Given the description of an element on the screen output the (x, y) to click on. 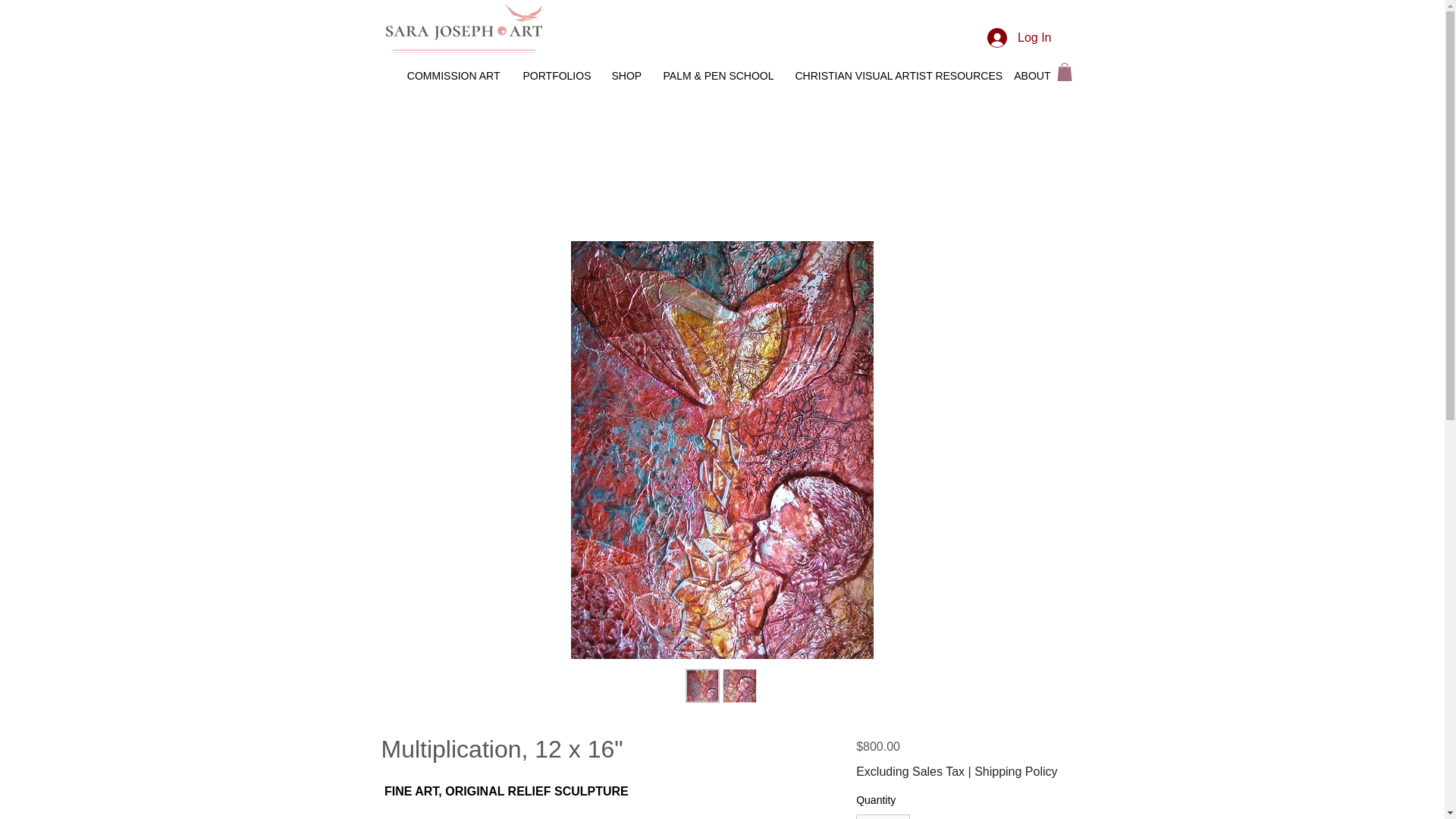
1 (883, 816)
COMMISSION ART (454, 75)
Shipping Policy (1015, 771)
ABOUT (1032, 75)
CHRISTIAN VISUAL ARTIST RESOURCES (893, 75)
PORTFOLIOS (555, 75)
Log In (1018, 37)
Original on Transparent copy.png (463, 28)
